Given the description of an element on the screen output the (x, y) to click on. 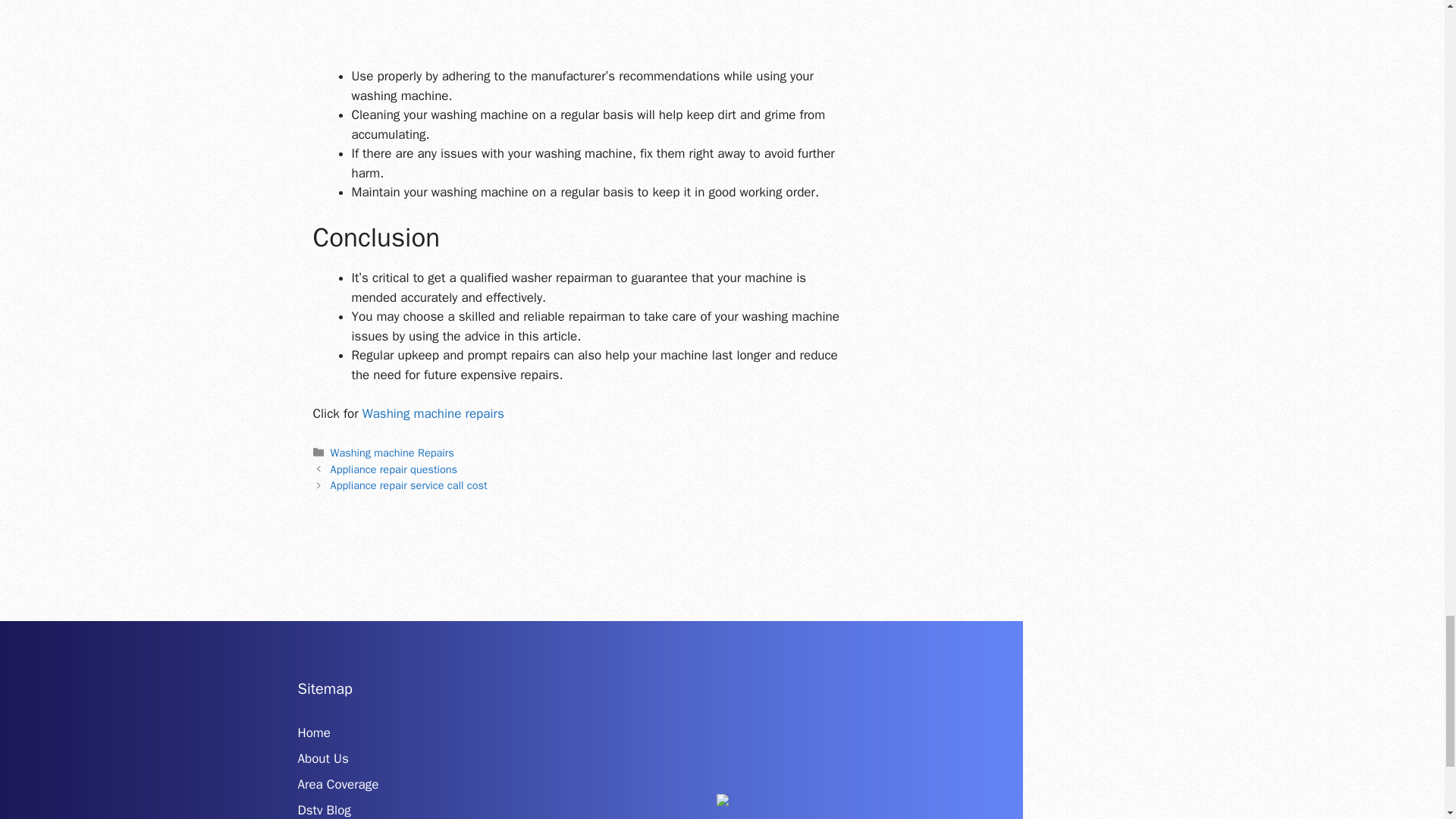
Previous (393, 468)
Next (408, 485)
